Given the description of an element on the screen output the (x, y) to click on. 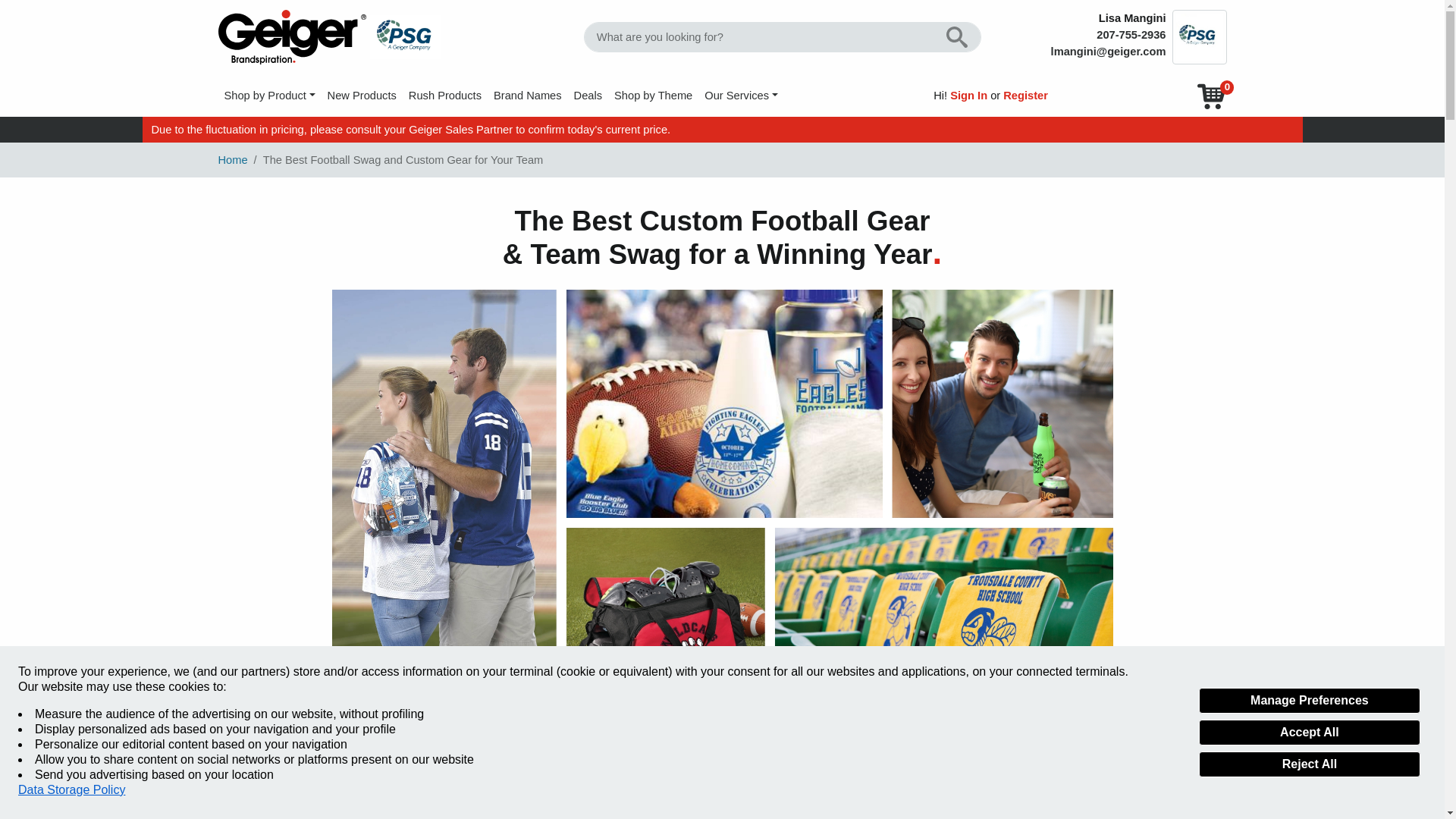
Manage Preferences (1309, 700)
207-755-2936 (1131, 34)
Accept All (1309, 732)
Data Storage Policy (71, 789)
Search (957, 37)
Shop by Product (269, 95)
Reject All (1309, 764)
